Given the description of an element on the screen output the (x, y) to click on. 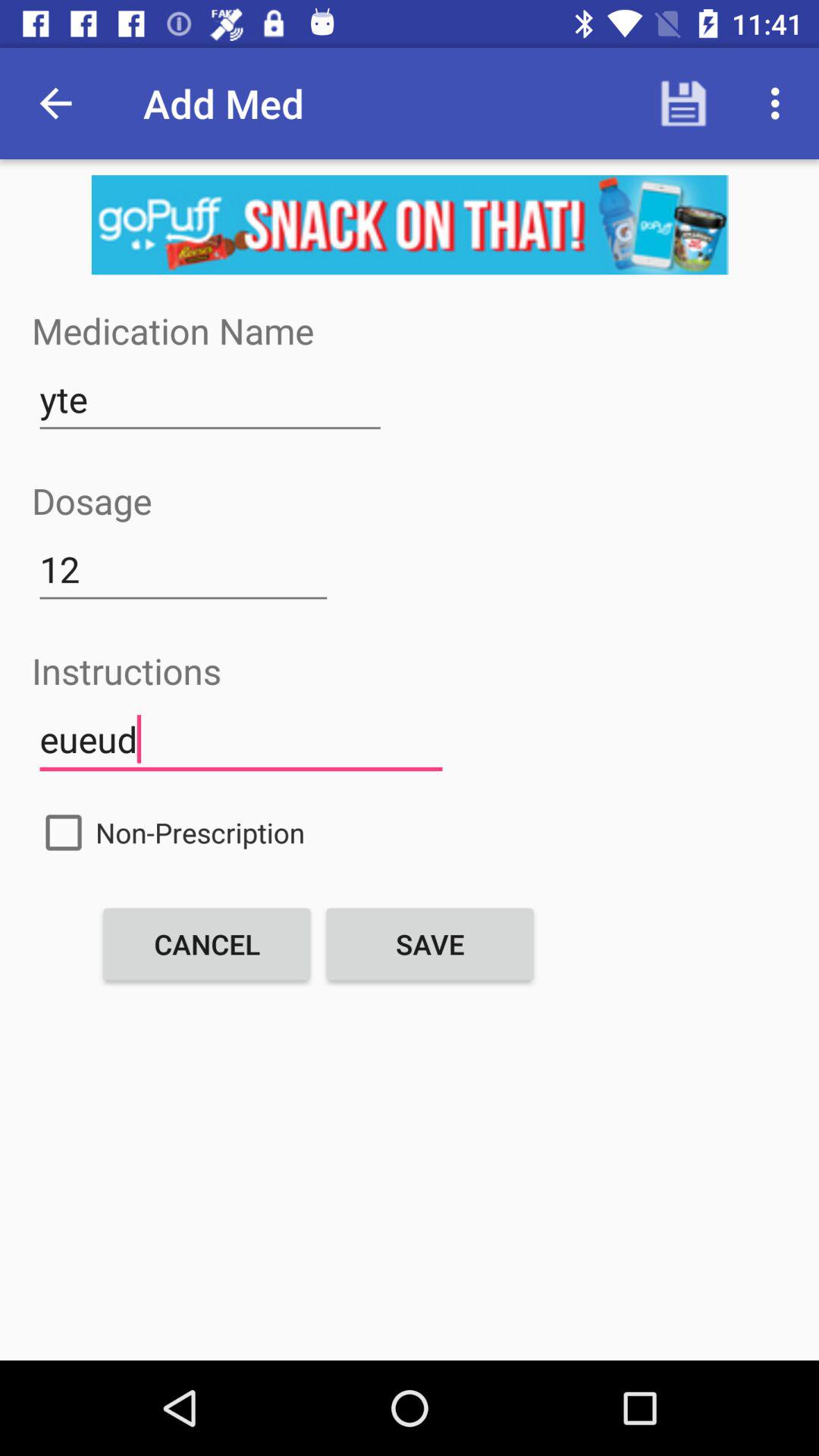
advertisement banner (409, 224)
